Given the description of an element on the screen output the (x, y) to click on. 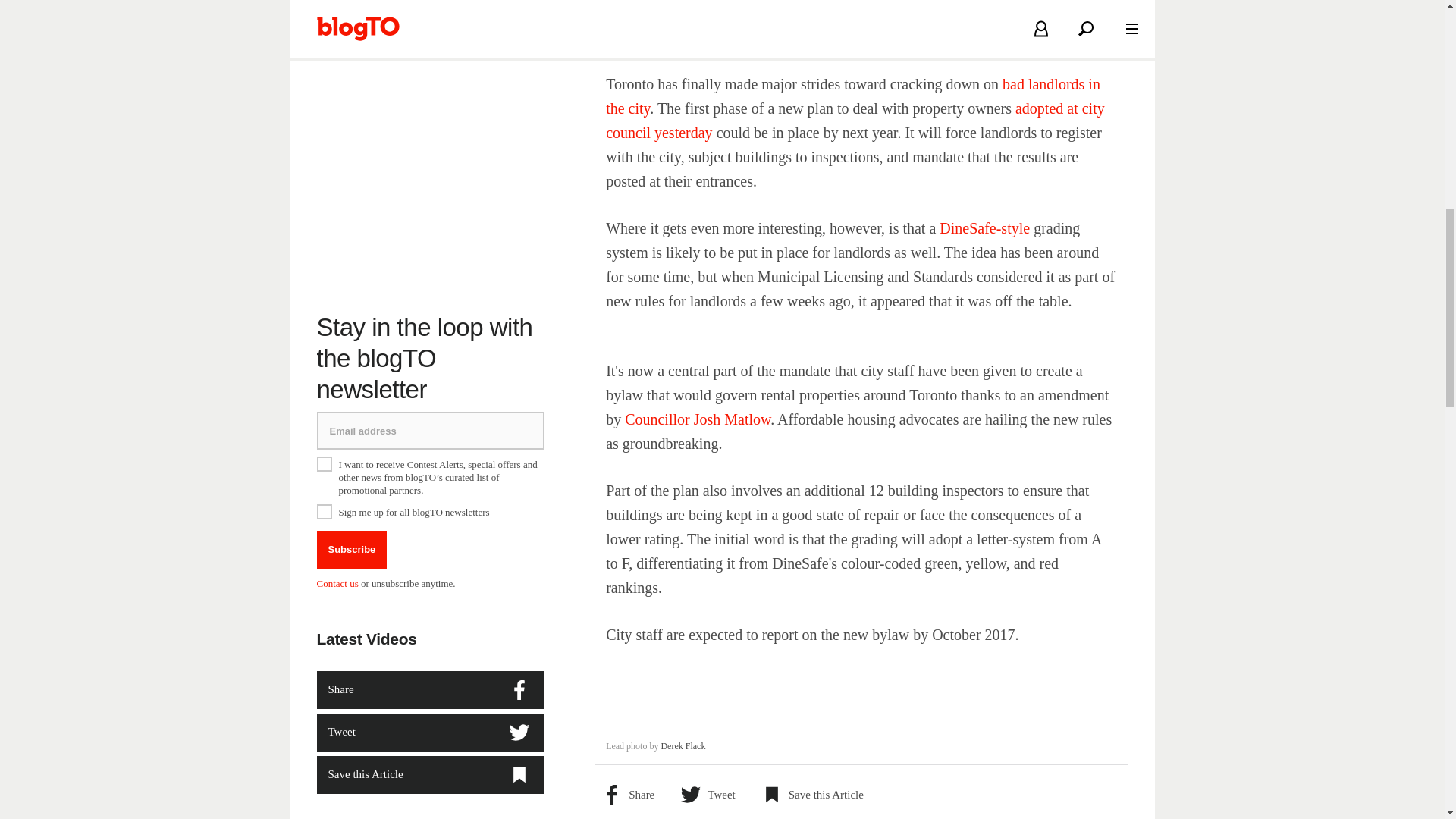
Subscribe (352, 528)
